Given the description of an element on the screen output the (x, y) to click on. 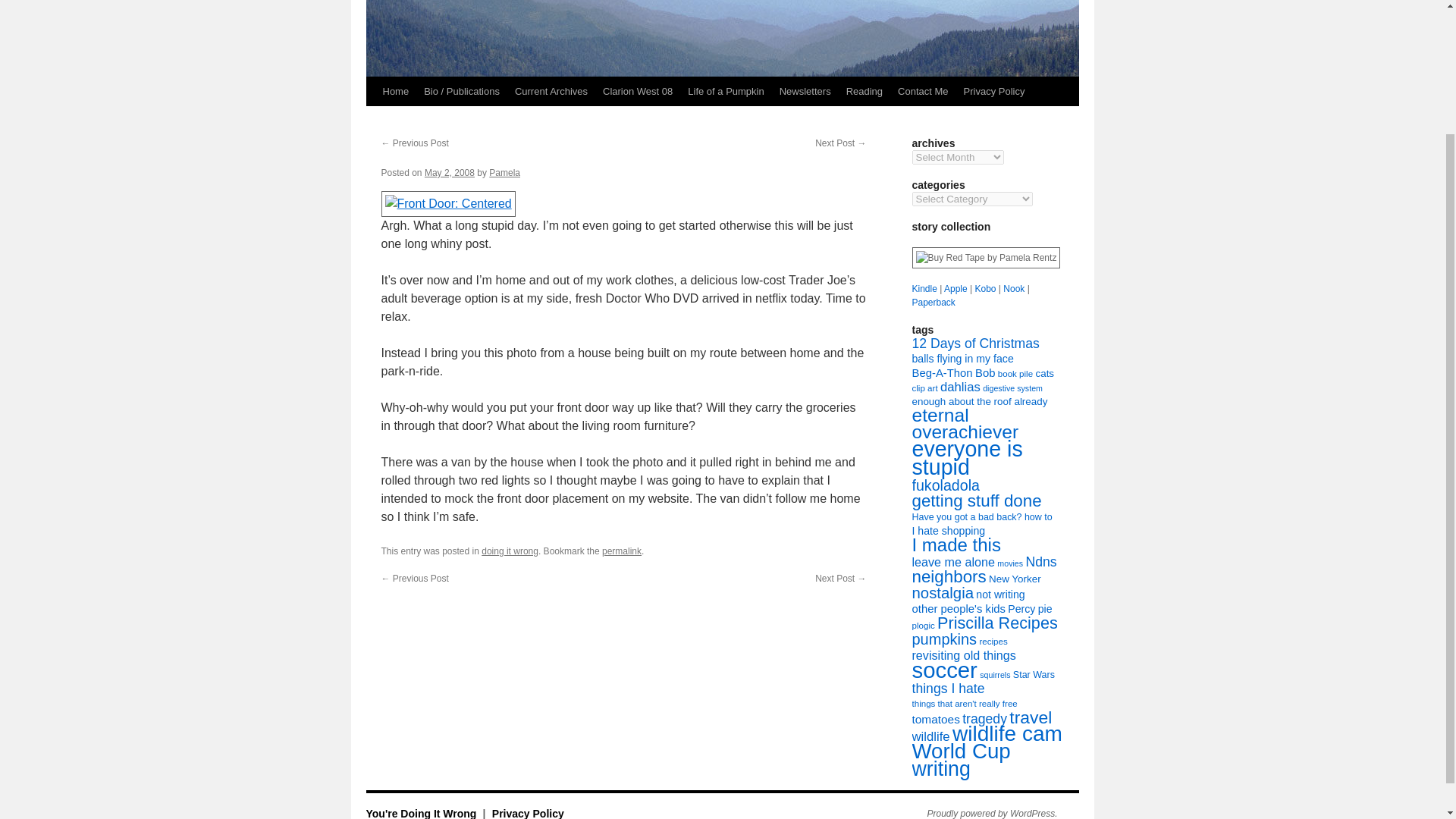
fukoladola (944, 484)
Clarion West 08 (637, 91)
Permalink to  (622, 551)
Bob (984, 372)
Nook (1014, 288)
Current Archives (550, 91)
Pamela (504, 172)
Life of a Pumpkin (725, 91)
Kobo (984, 288)
cats (1044, 373)
Home (395, 91)
Reading (863, 91)
balls flying in my face (962, 358)
Paperback (933, 302)
May 2, 2008 (449, 172)
